Given the description of an element on the screen output the (x, y) to click on. 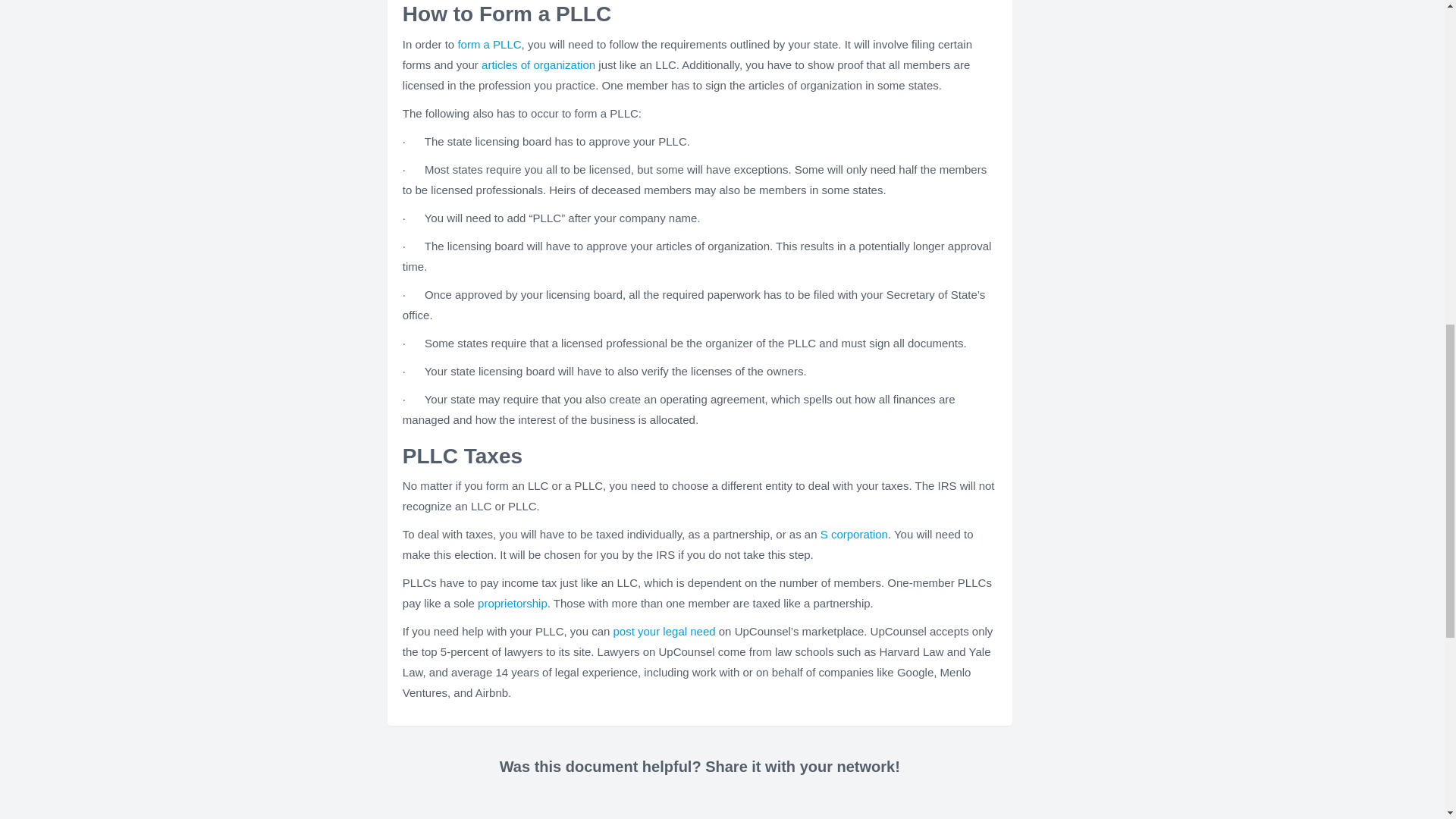
post your legal need (663, 631)
form a PLLC (489, 43)
proprietorship (512, 603)
S corporation (854, 533)
articles of organization (538, 64)
